Given the description of an element on the screen output the (x, y) to click on. 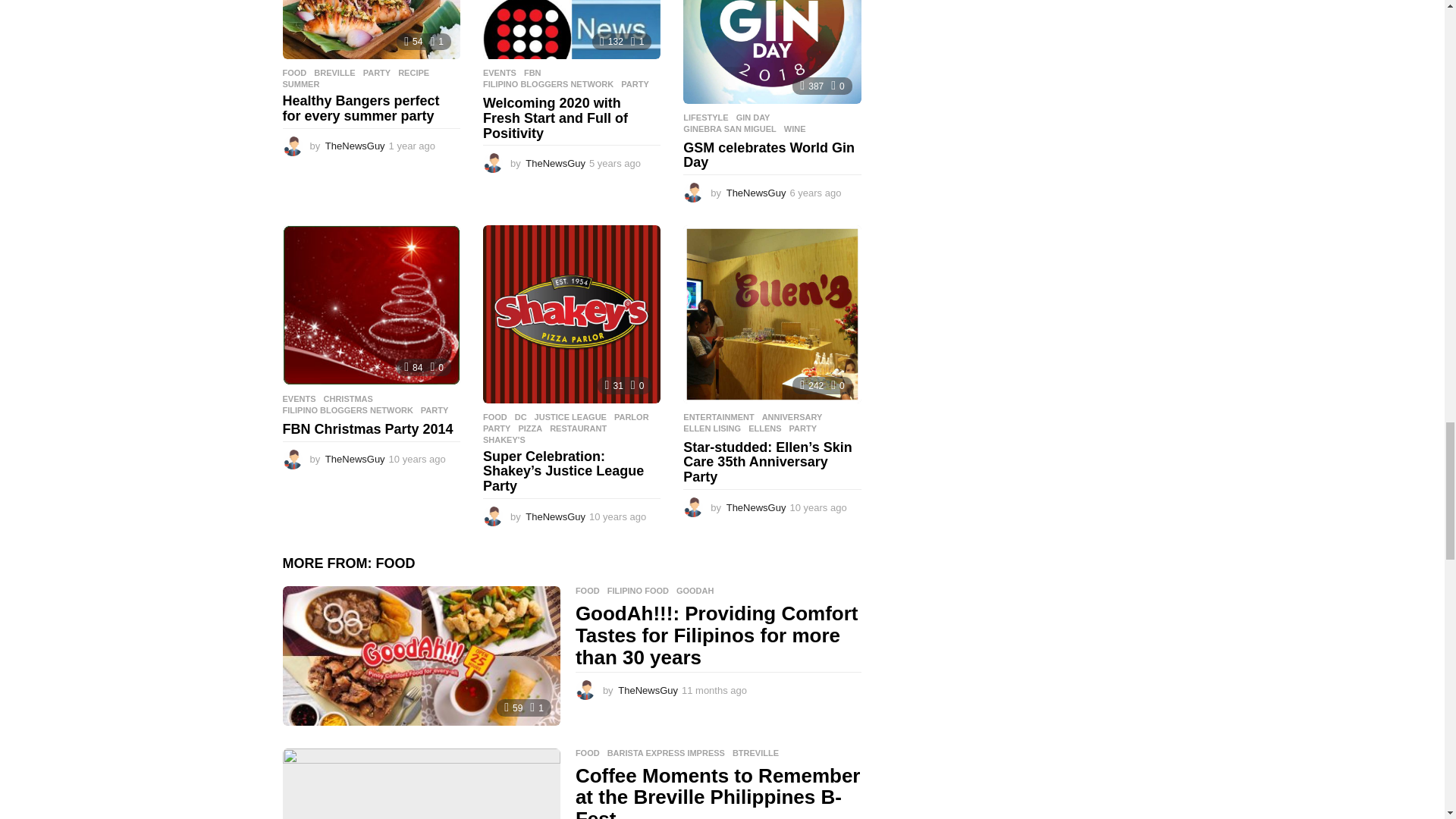
Welcoming 2020 with Fresh Start and Full of Positivity (572, 29)
FBN Christmas Party 2014 (371, 304)
Healthy Bangers perfect for every summer party (371, 29)
GSM celebrates World Gin Day (771, 51)
